Given the description of an element on the screen output the (x, y) to click on. 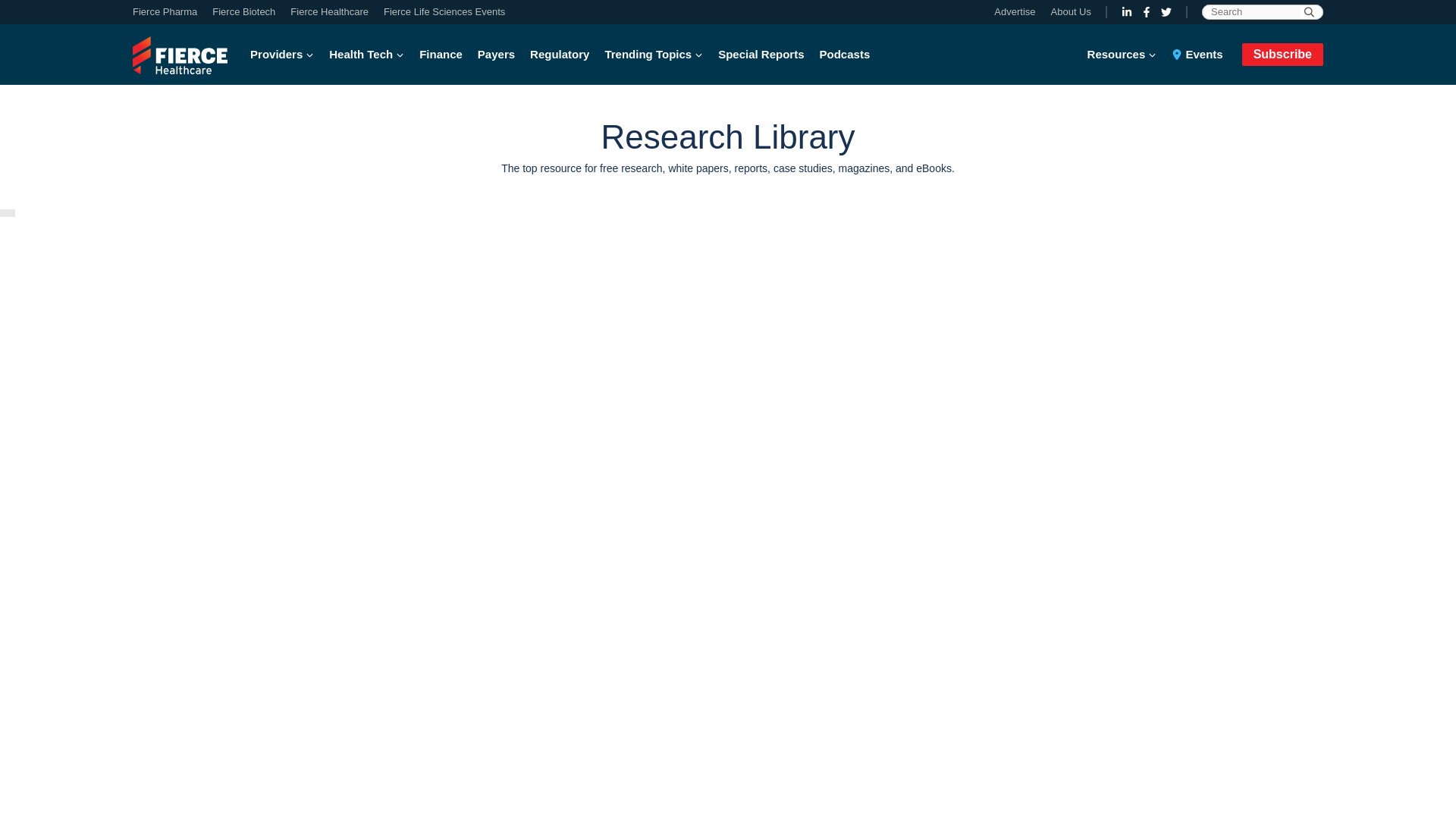
Subscribe (1282, 53)
Special Reports (760, 54)
Resources (1125, 54)
Special Reports (760, 54)
Finance (441, 54)
Payers (496, 54)
Podcasts (844, 54)
Health Tech (366, 54)
Fierce Life Sciences Events (440, 12)
Fierce Biotech (243, 12)
Providers (285, 54)
Finance (441, 54)
Providers (285, 54)
Regulatory (559, 54)
Health Tech (366, 54)
